Given the description of an element on the screen output the (x, y) to click on. 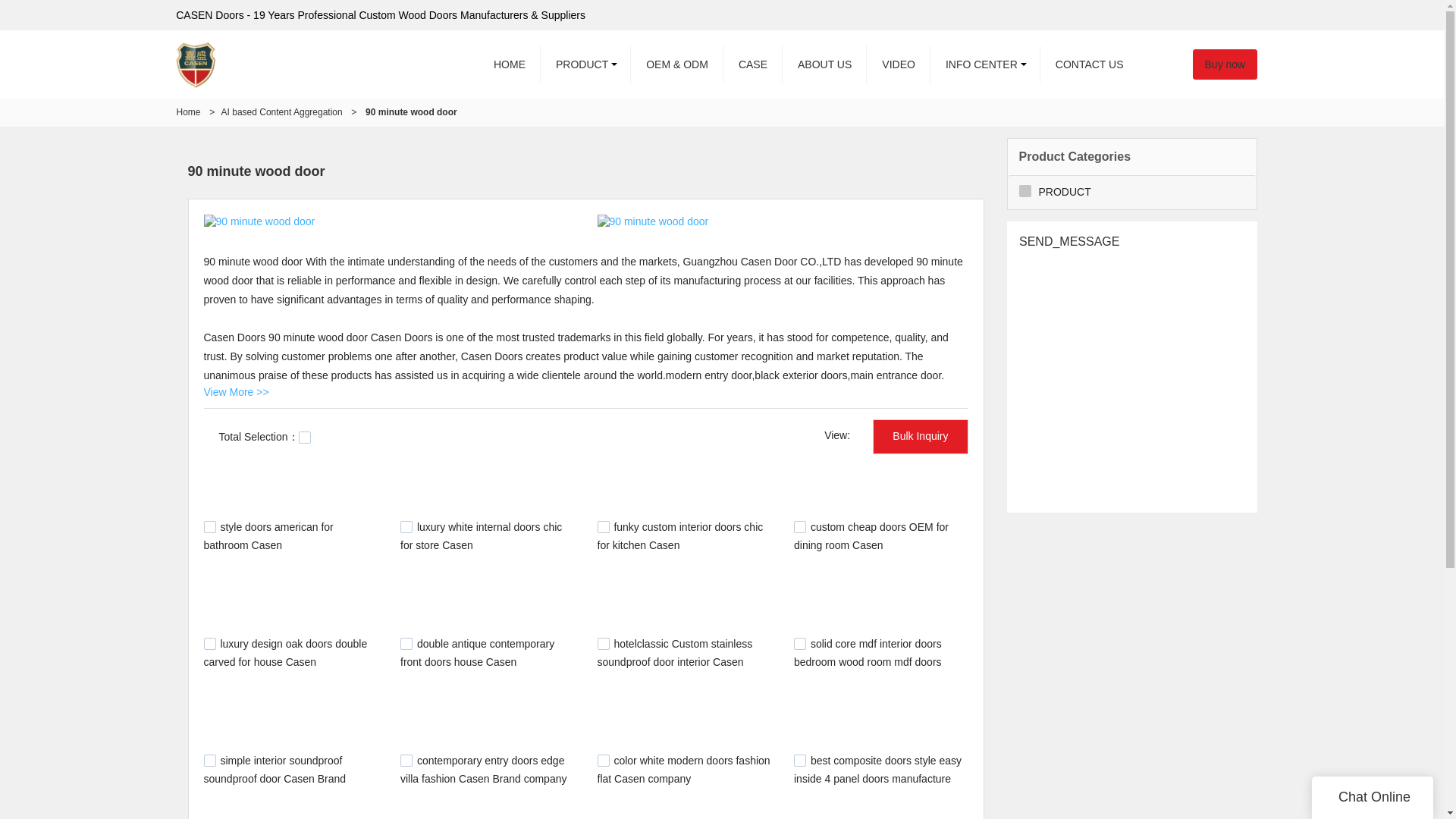
on (304, 437)
898 (603, 644)
funky custom interior doors chic for kitchen Casen (679, 535)
custom cheap doors OEM for dining room Casen (871, 535)
VIDEO (898, 64)
style doors american for bathroom Casen (268, 535)
luxury design oak doors double carved for house Casen (284, 653)
1207 (603, 526)
PRODUCT (585, 64)
1249 (209, 526)
1194 (799, 526)
INFO CENTER (985, 64)
836 (799, 644)
932 (406, 644)
